Given the description of an element on the screen output the (x, y) to click on. 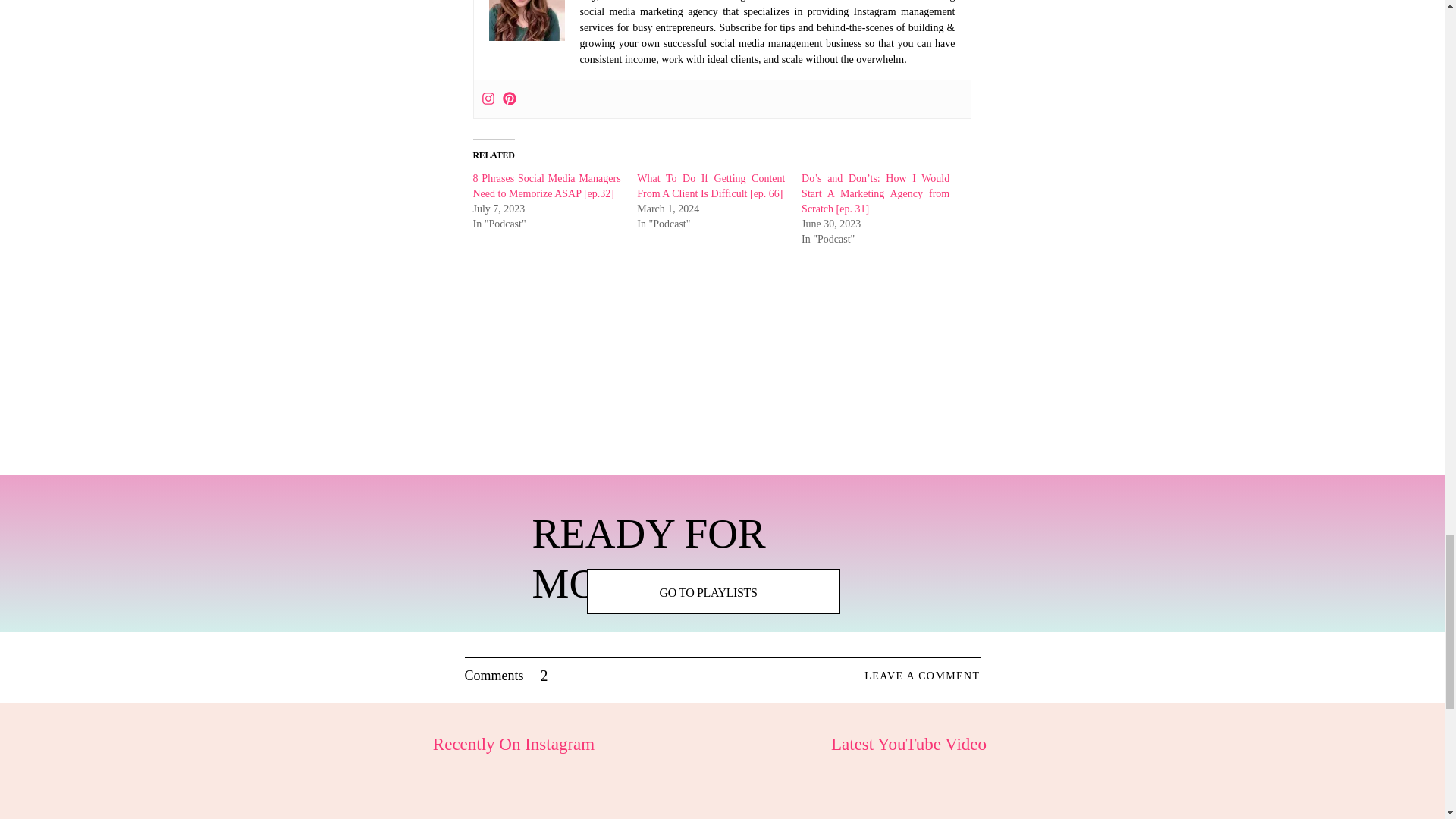
Pinterest (508, 99)
GO TO PLAYLISTS (707, 591)
LEAVE A COMMENT (894, 676)
Instagram (487, 99)
